Given the description of an element on the screen output the (x, y) to click on. 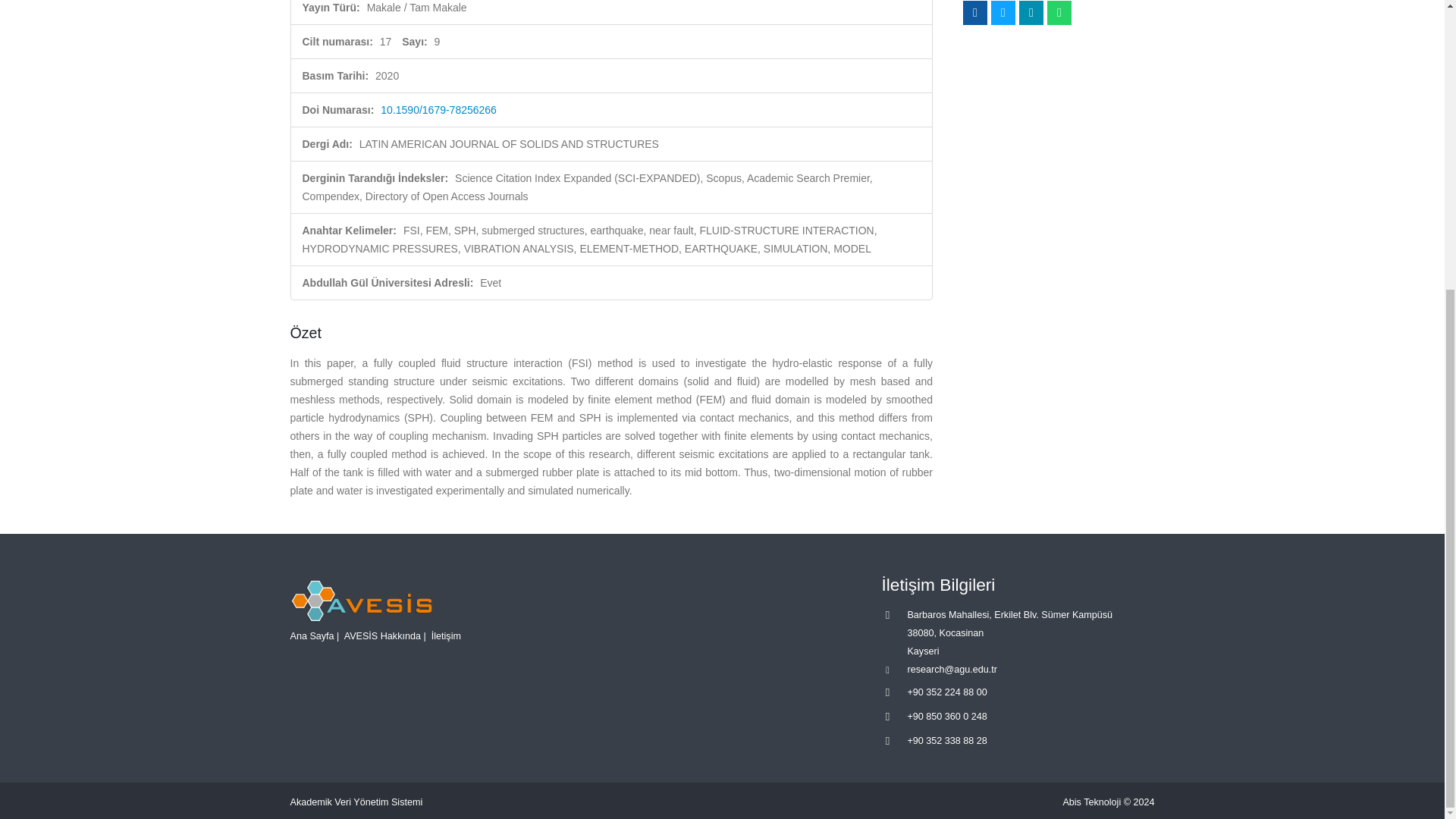
Ana Sayfa (311, 635)
Abis Teknoloji (1091, 801)
